Given the description of an element on the screen output the (x, y) to click on. 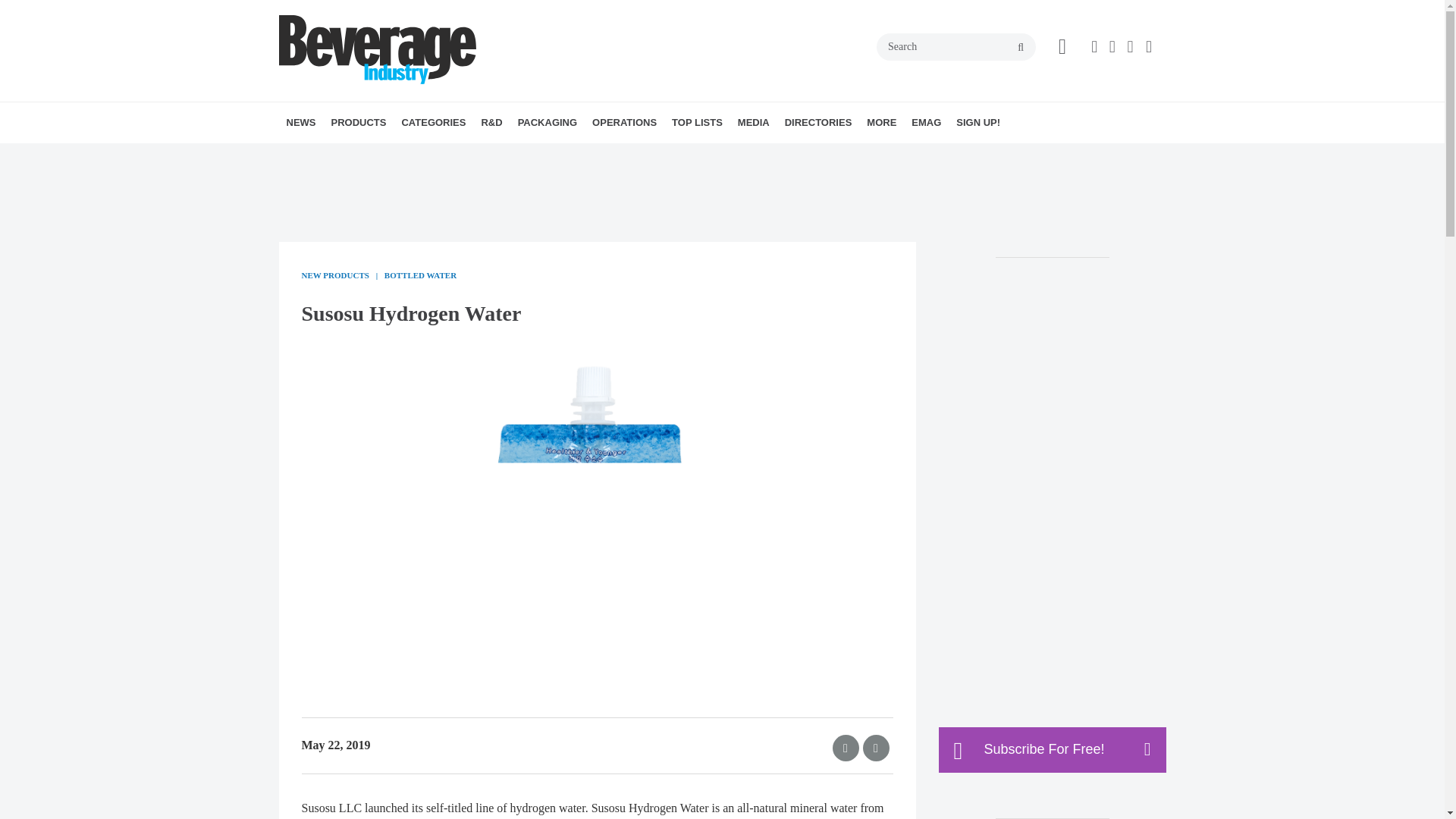
BOTTLED WATER (501, 155)
ALTERNATIVE DRINKS (488, 155)
Search (955, 46)
SPORTS DRINKS (525, 155)
PLANT-BASED BEVERAGES (522, 155)
SUPPLIER NEWS (380, 155)
PACKAGING (548, 122)
CANNABIS BEVERAGES (507, 155)
CATEGORIES (433, 122)
PACKAGING EQUIPMENT (611, 155)
